Given the description of an element on the screen output the (x, y) to click on. 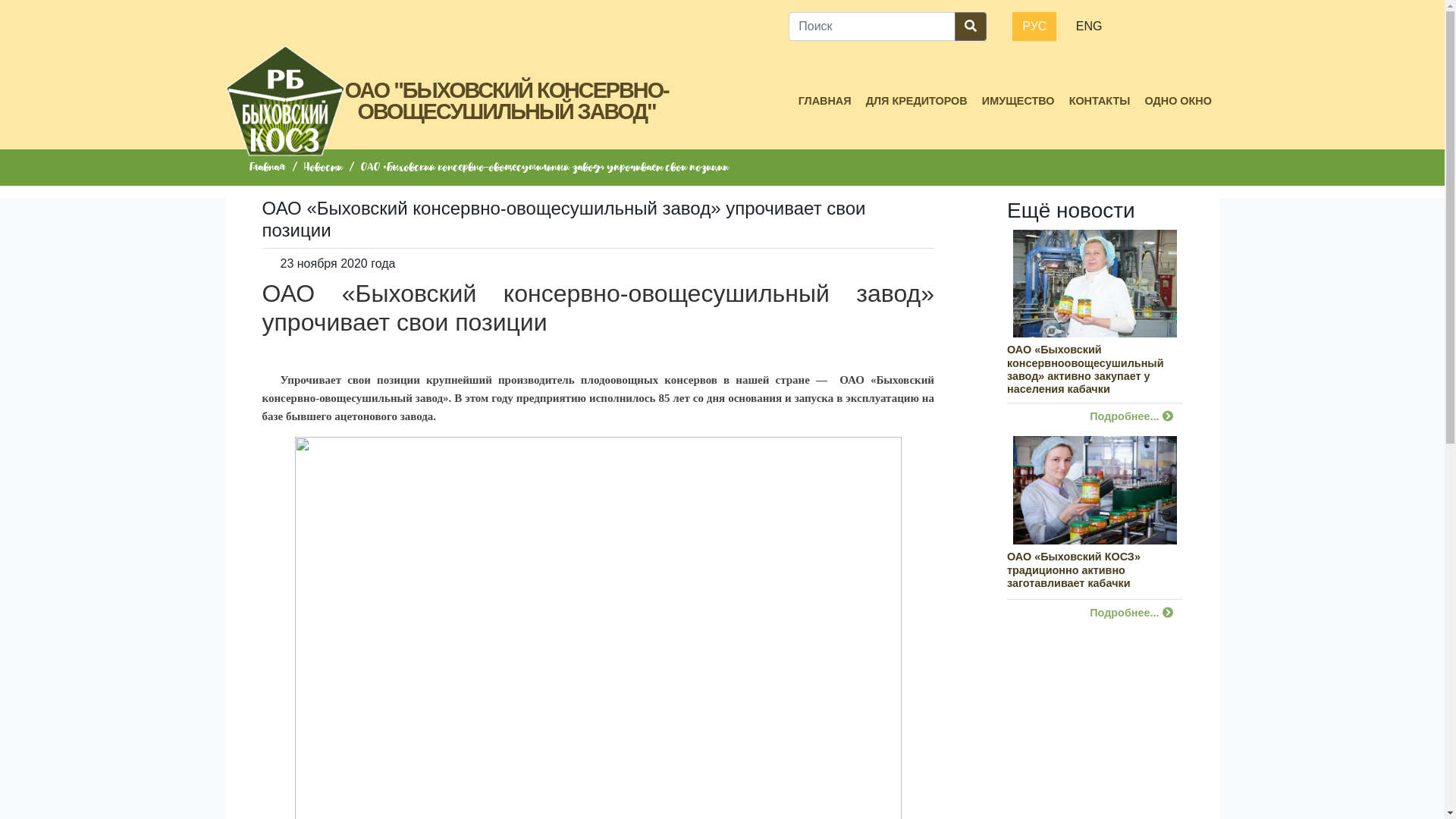
  Element type: text (264, 347)
ENG Element type: text (1089, 26)
